Given the description of an element on the screen output the (x, y) to click on. 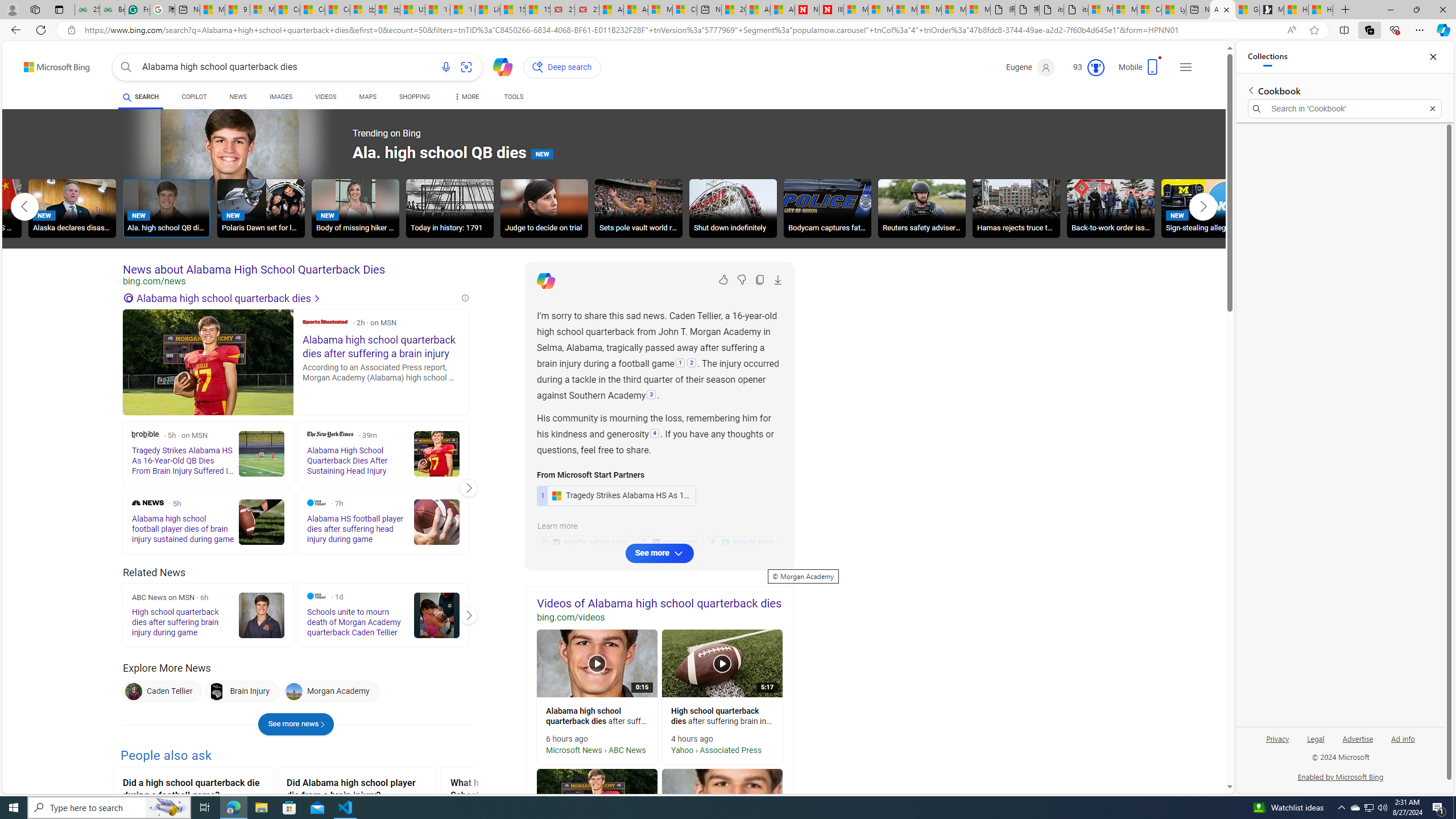
News about Alabama High School Quarterback Dies (295, 269)
Settings and quick links (1185, 67)
Search in 'Cookbook' (1345, 108)
Dropdown Menu (465, 96)
MORE (465, 98)
